Given the description of an element on the screen output the (x, y) to click on. 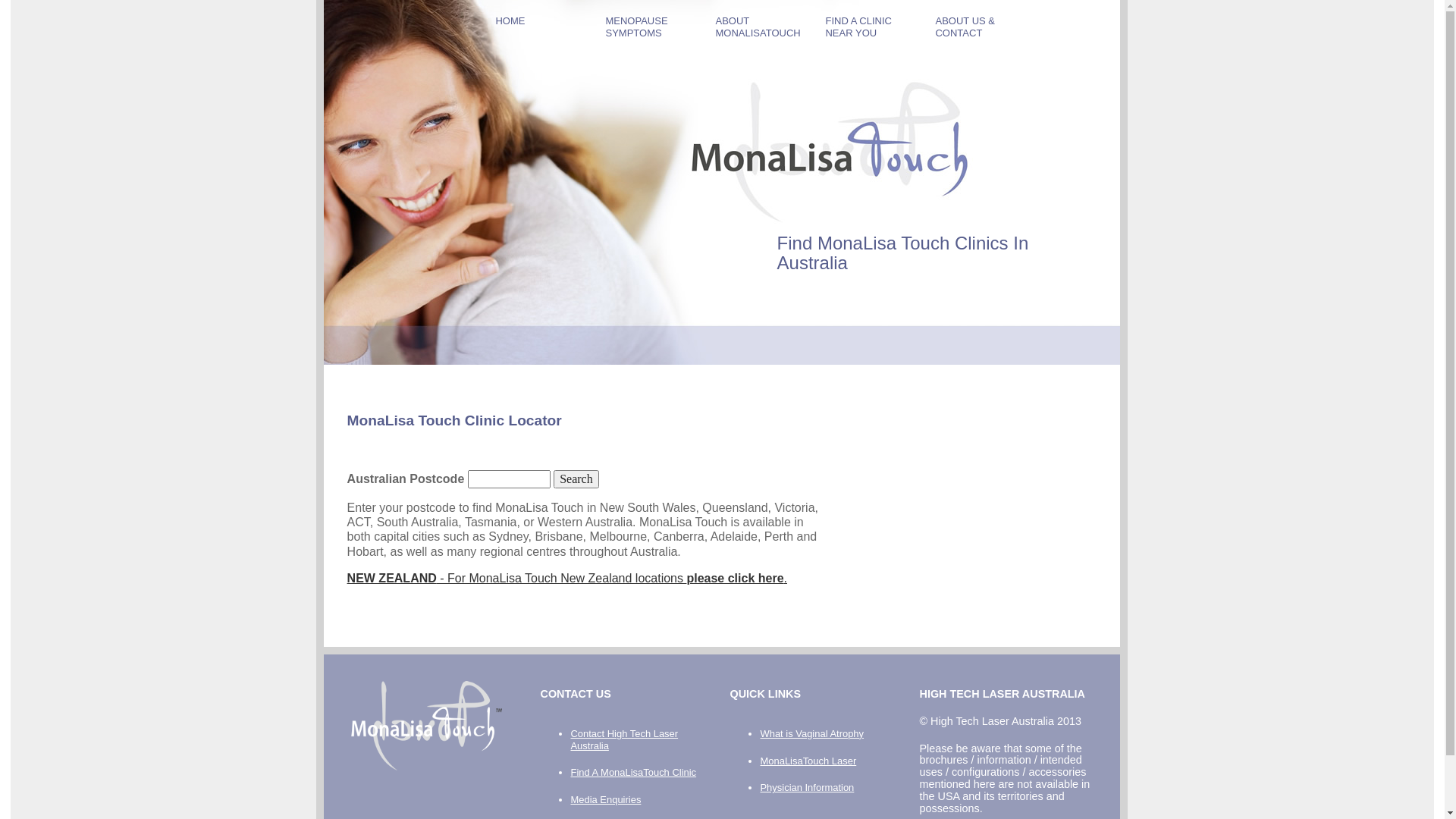
MENOPAUSE SYMPTOMS Element type: text (645, 25)
Physician Information Element type: text (806, 787)
Media Enquiries Element type: text (605, 799)
ABOUT US & CONTACT Element type: text (975, 25)
MonaLisaTouch Laser Element type: text (807, 760)
MonaLisa Touch Home Page Element type: hover (426, 725)
Find A MonaLisaTouch Clinic Element type: text (633, 772)
FIND A CLINIC NEAR YOU Element type: text (865, 25)
What is Vaginal Atrophy Element type: text (811, 733)
ABOUT MONALISATOUCH Element type: text (755, 25)
Search Element type: text (576, 479)
HOME Element type: text (535, 19)
Contact High Tech Laser Australia Element type: text (623, 739)
